Given the description of an element on the screen output the (x, y) to click on. 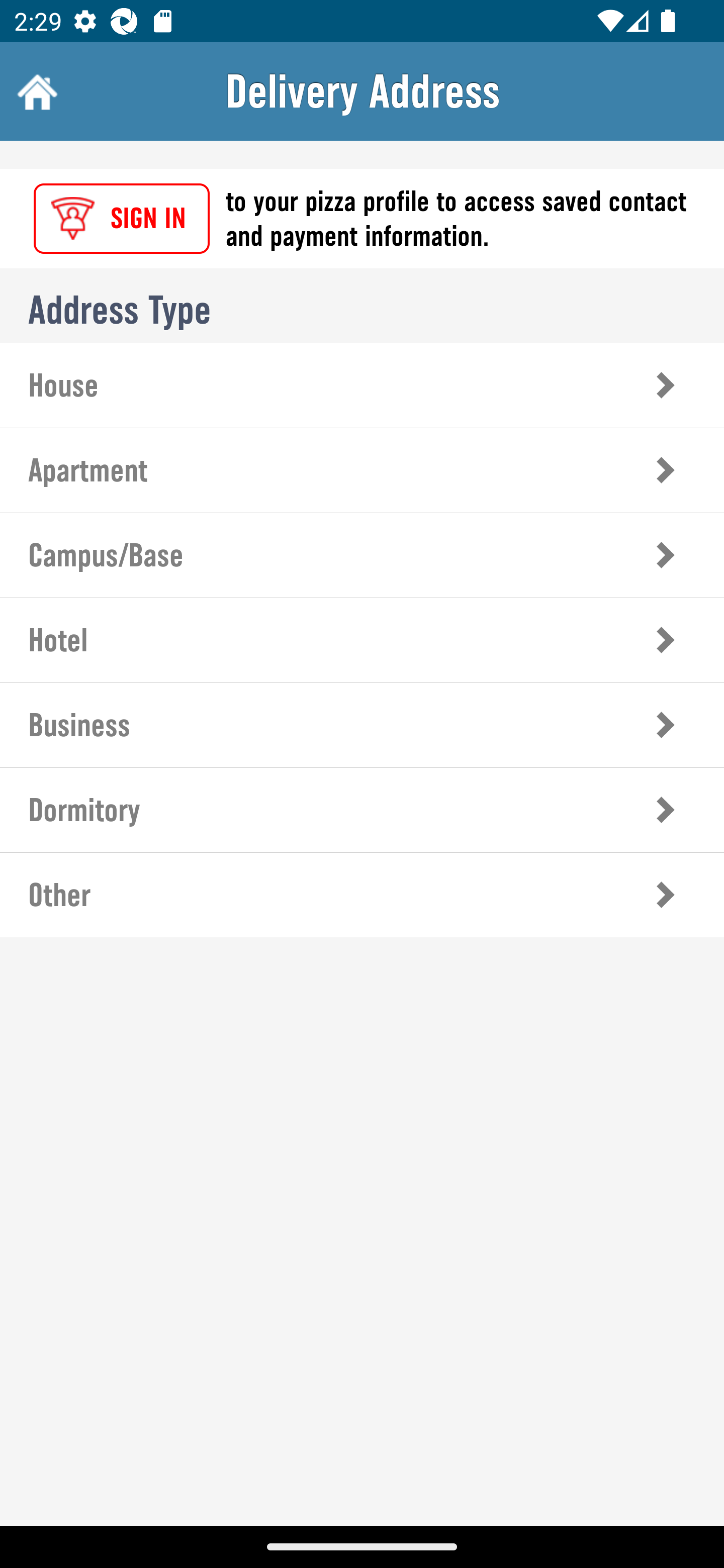
Home (35, 91)
SIGN IN (121, 218)
1 of 7, House House Address Details (362, 385)
2 of 7, Apartment Apartment Address Details (362, 470)
3 of 7, Campus/Base Campus/Base Address Details (362, 554)
4 of 7, Hotel Hotel Address Details (362, 639)
5 of 7, Business Business Address Details (362, 724)
6 of 7, Dormitory Dormitory Address Details (362, 810)
7 of 7, Other Other Address Details (362, 894)
